Given the description of an element on the screen output the (x, y) to click on. 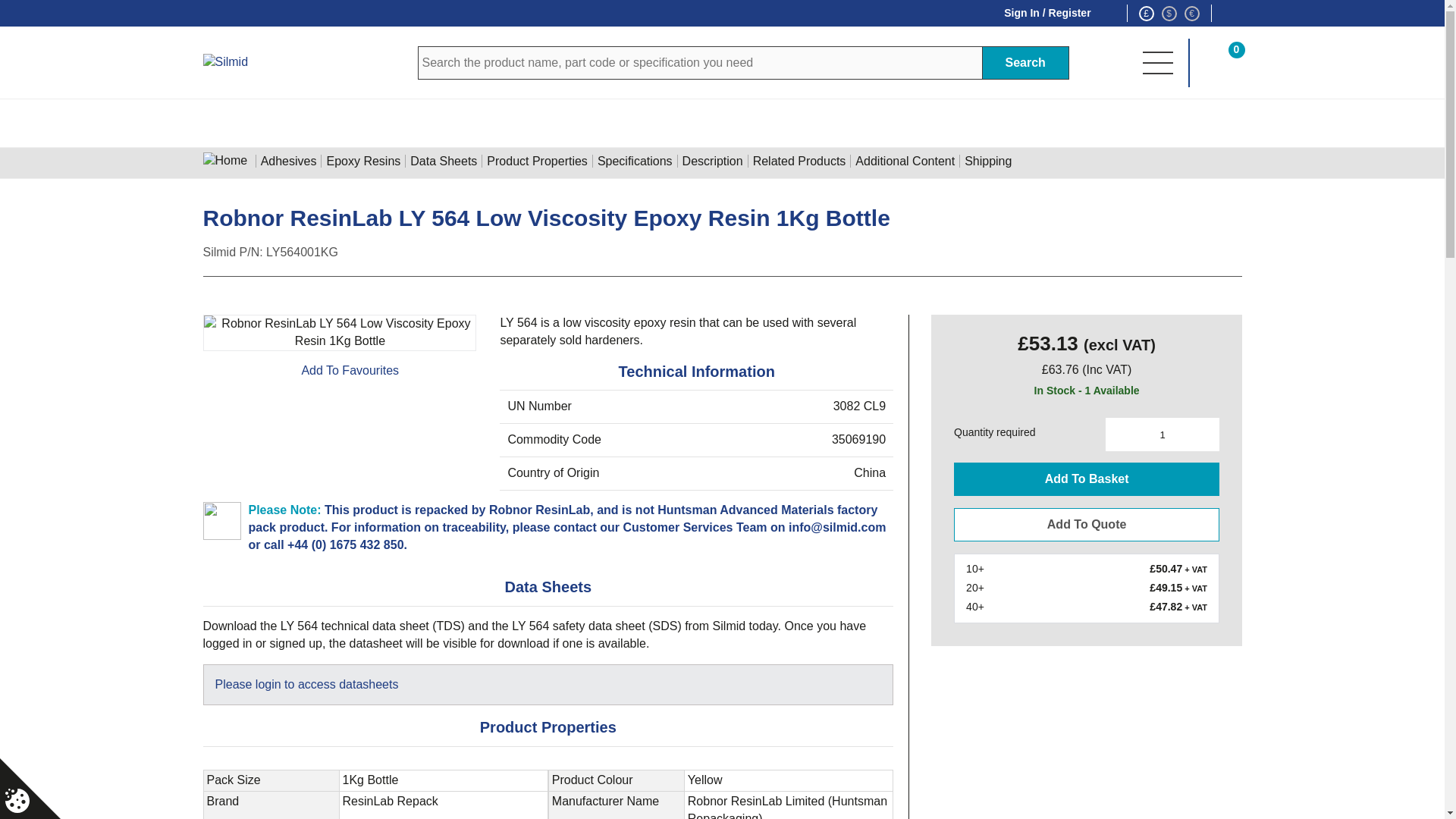
Add To Quote (1086, 524)
1 (1162, 434)
Open Cookie Consent (30, 788)
Open Cookie Consent (17, 800)
